Given the description of an element on the screen output the (x, y) to click on. 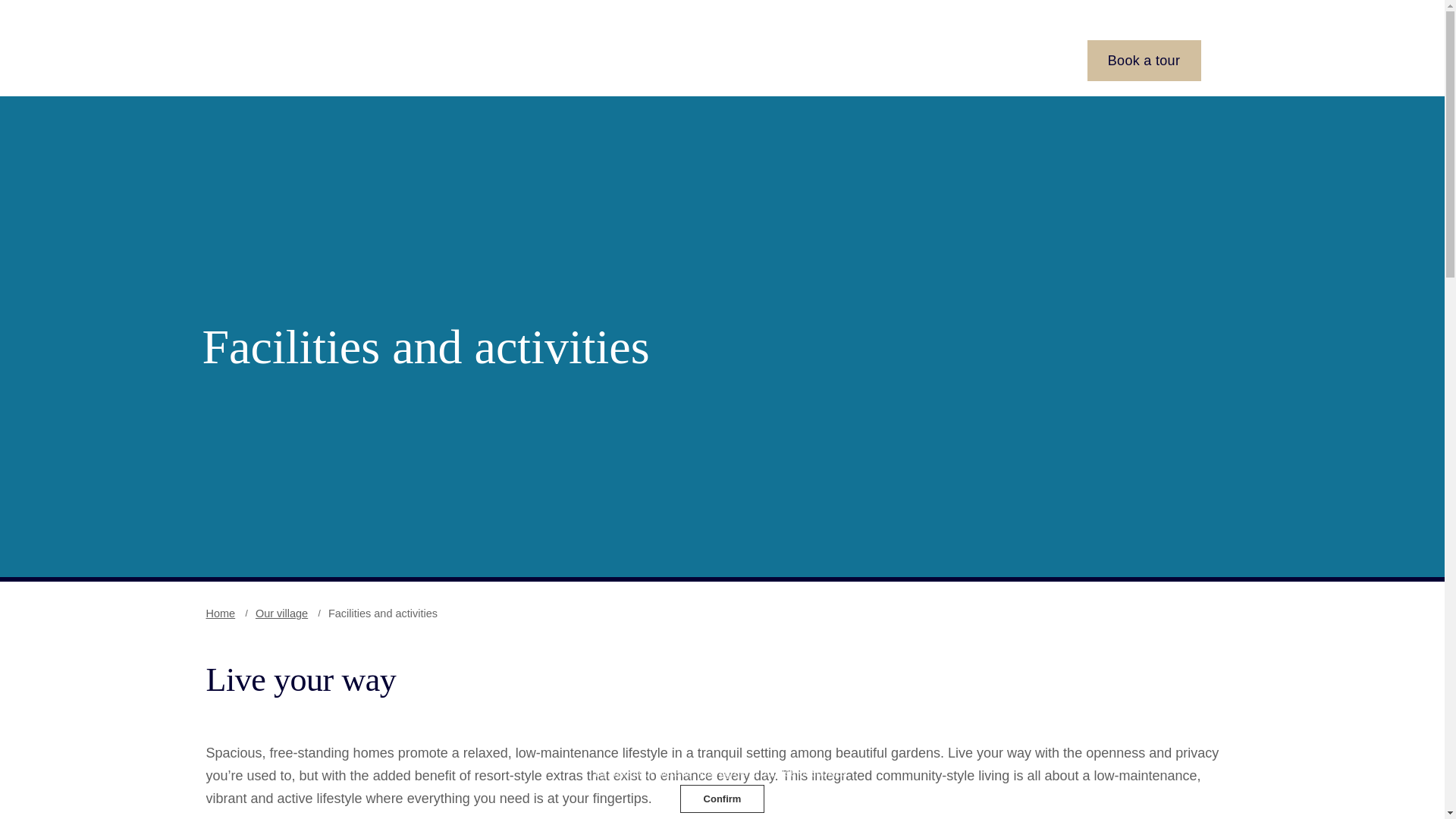
Making the move (910, 60)
Homes available (609, 60)
Book a tour (1144, 60)
About us (1021, 60)
About us (1021, 60)
Our village (491, 60)
Serviced apartments (758, 60)
Making the Move (910, 60)
Logo (302, 59)
